Given the description of an element on the screen output the (x, y) to click on. 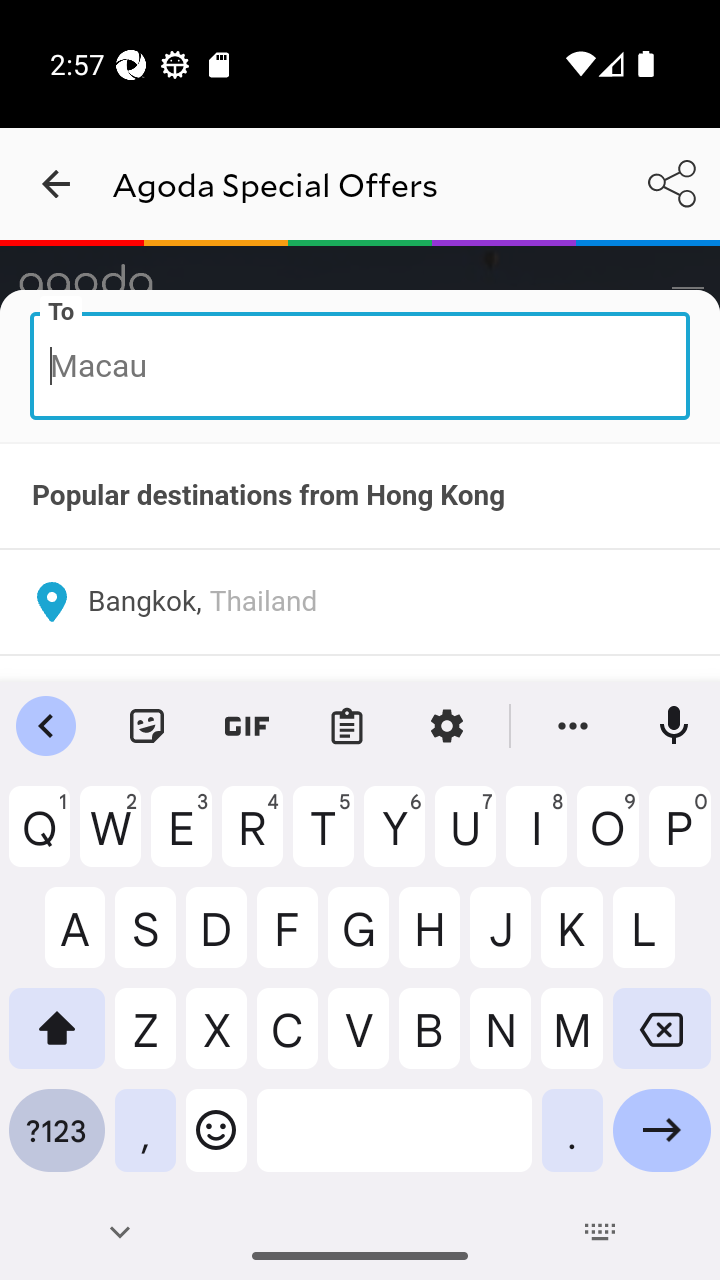
navigation_button (56, 184)
Share (672, 183)
